Given the description of an element on the screen output the (x, y) to click on. 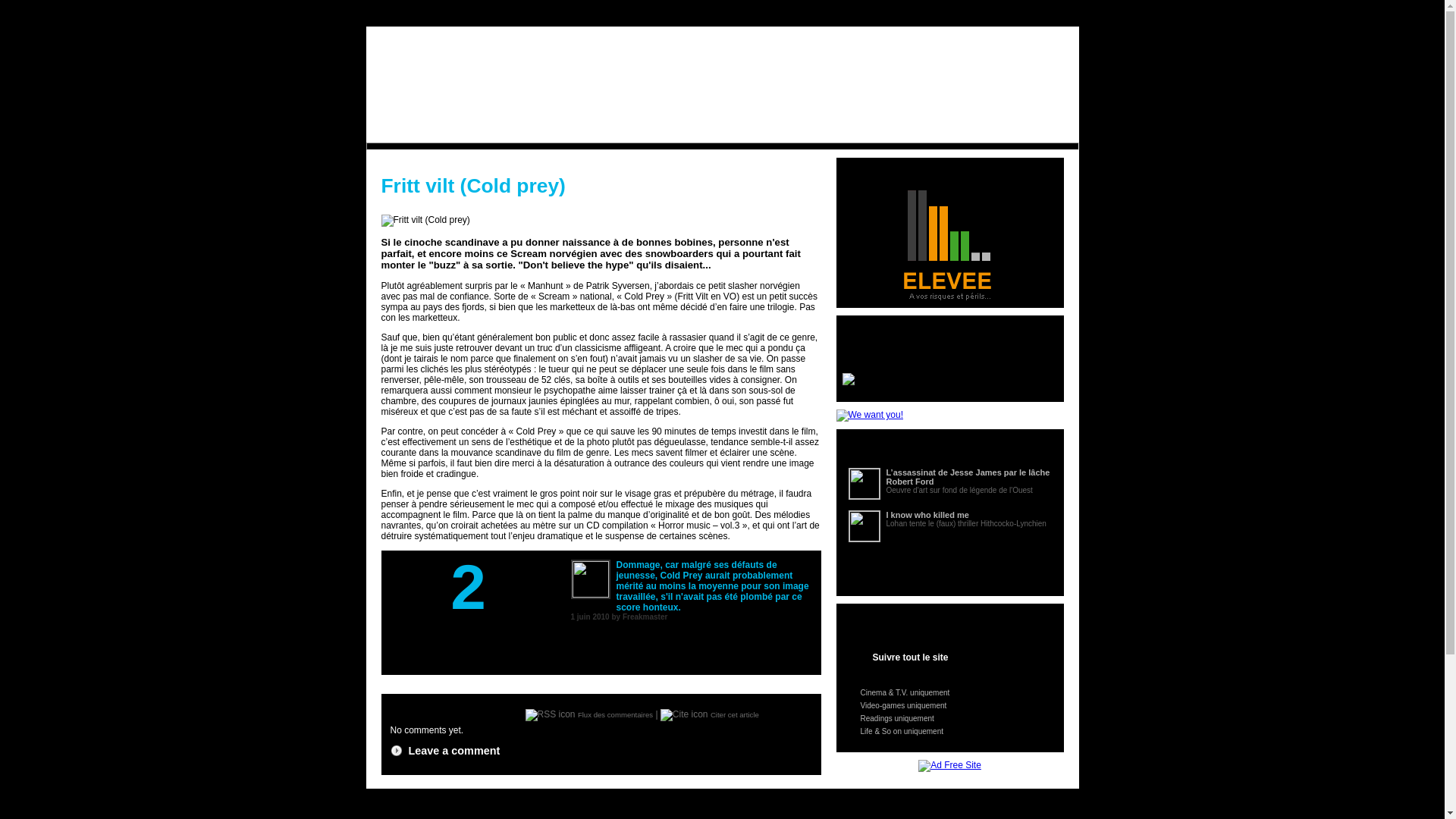
Readings Element type: text (574, 130)
Cinema & T.V. uniquement Element type: text (949, 692)
why we do it Element type: text (434, 12)
Suivre tout le site Element type: text (949, 658)
join Element type: text (1039, 12)
Life & So on Element type: text (650, 130)
Life & So on uniquement Element type: text (949, 731)
Freakmaster Element type: text (644, 616)
what we do Element type: text (393, 12)
Readings uniquement Element type: text (949, 718)
Leave a comment Element type: text (453, 750)
login Element type: text (1082, 12)
Flux des commentaires Element type: text (614, 715)
Video-games uniquement Element type: text (949, 705)
Video-games Element type: text (500, 130)
Blog Element type: text (714, 130)
Citer cet article Element type: text (734, 715)
who do it Element type: text (473, 12)
2ManyFreaks : Freakin pop culture news & critics Element type: text (728, 72)
